Given the description of an element on the screen output the (x, y) to click on. 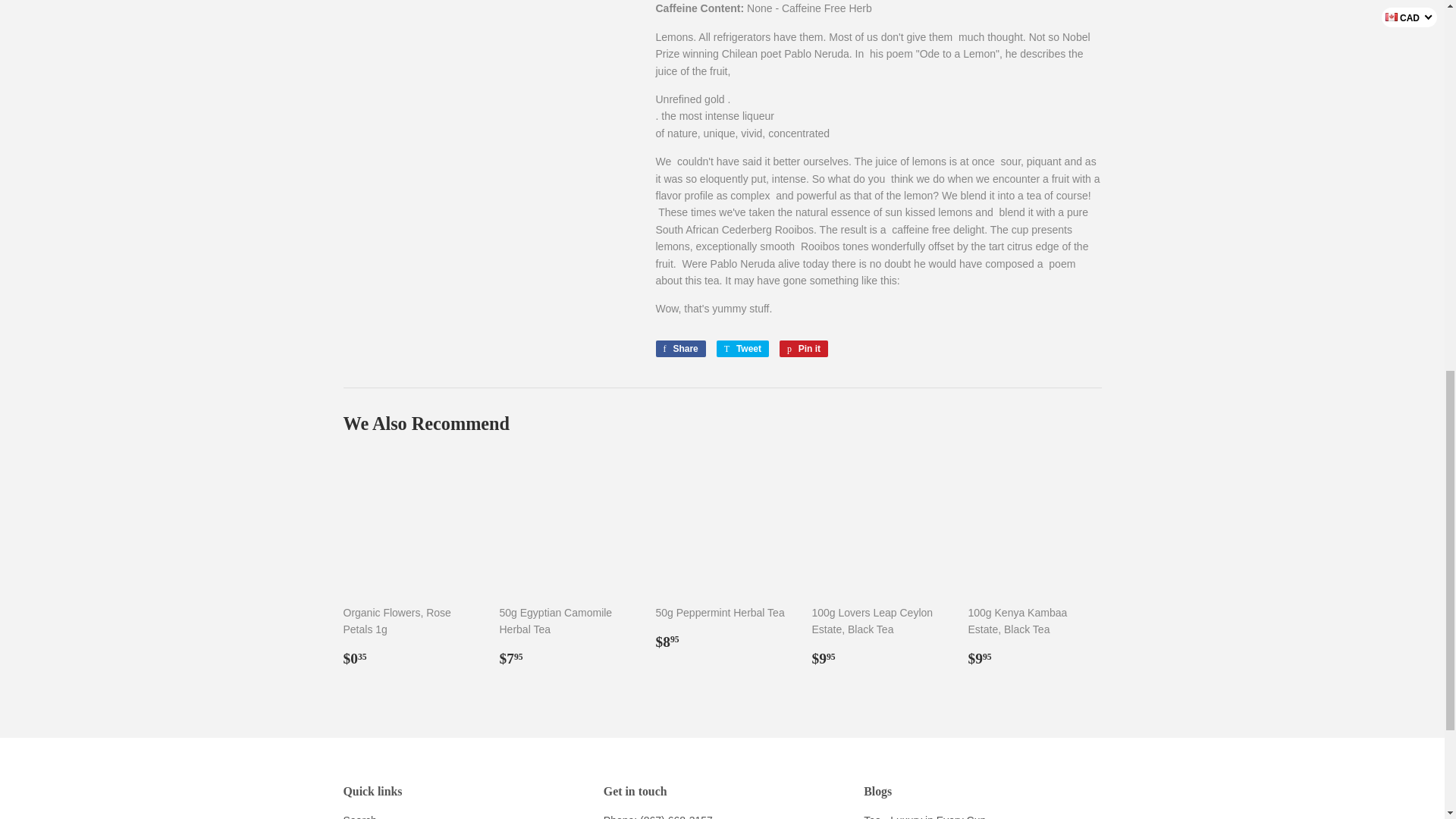
Pin on Pinterest (803, 348)
Share on Facebook (679, 348)
Tweet on Twitter (742, 348)
